Given the description of an element on the screen output the (x, y) to click on. 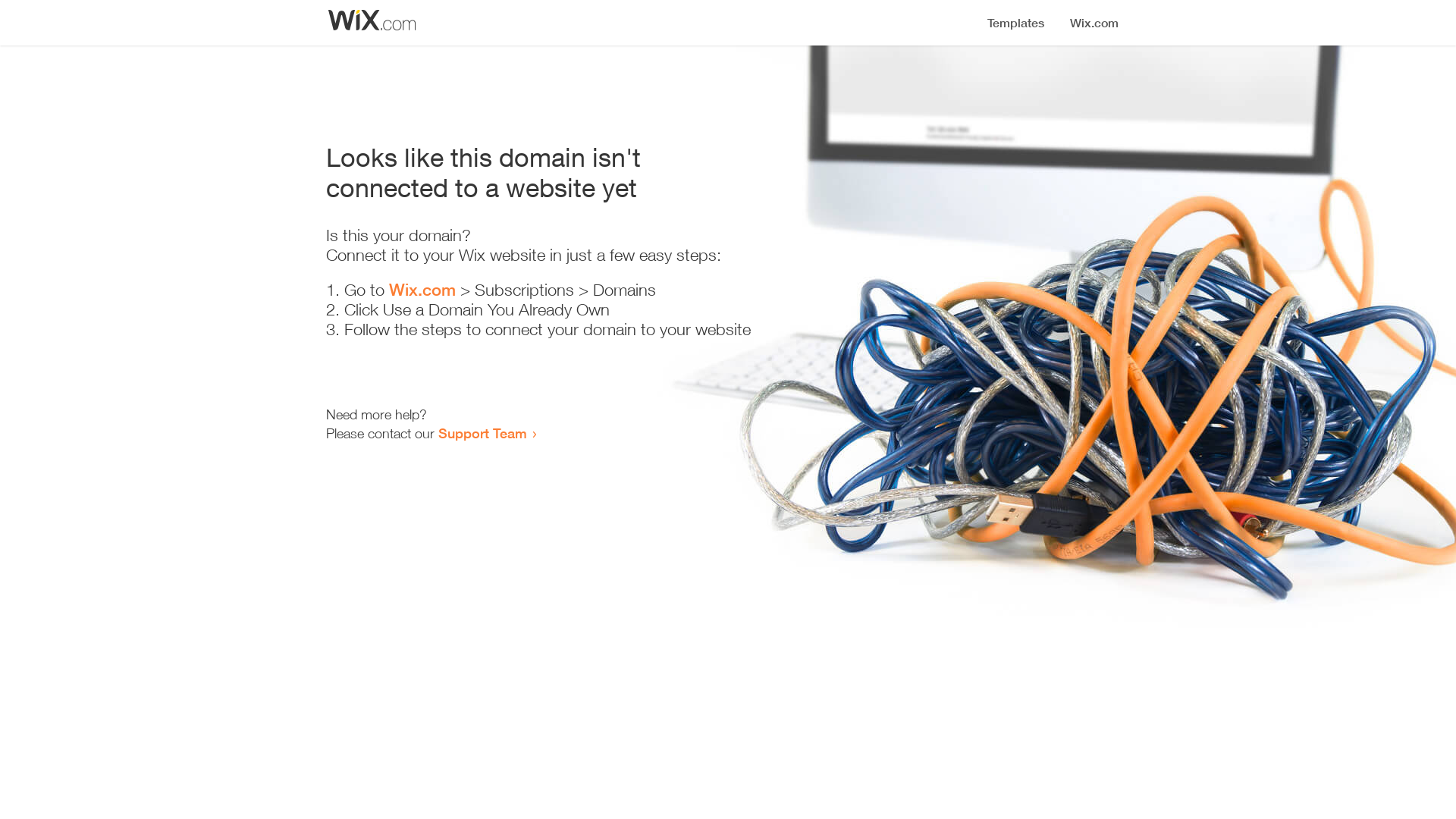
Support Team Element type: text (482, 432)
Wix.com Element type: text (422, 289)
